Given the description of an element on the screen output the (x, y) to click on. 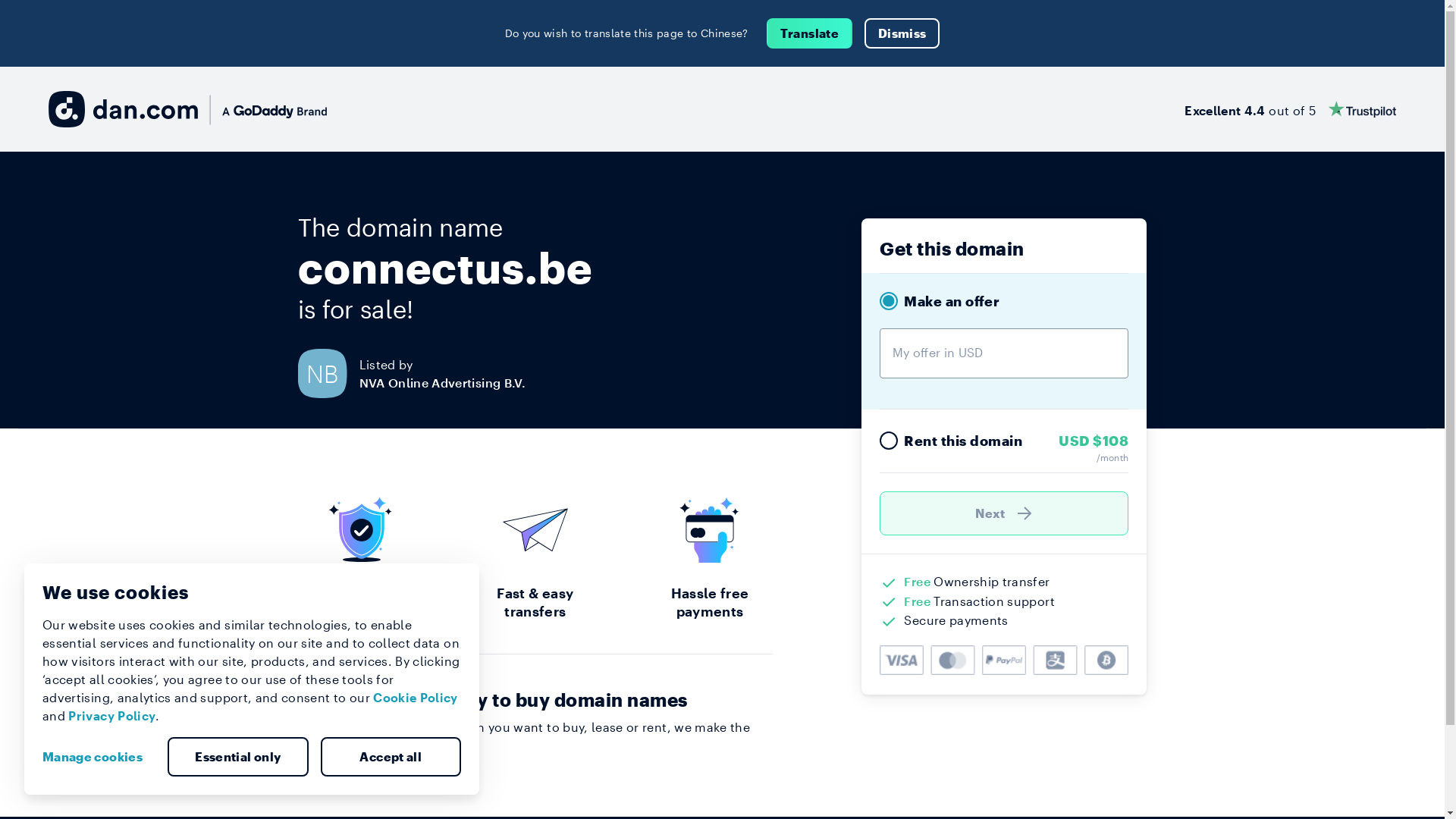
Essential only Element type: text (237, 756)
Manage cookies Element type: text (98, 756)
Excellent 4.4 out of 5 Element type: text (1290, 109)
Next
) Element type: text (1003, 513)
Translate Element type: text (809, 33)
Cookie Policy Element type: text (415, 697)
Privacy Policy Element type: text (111, 715)
Dismiss Element type: text (901, 33)
Accept all Element type: text (390, 756)
